Given the description of an element on the screen output the (x, y) to click on. 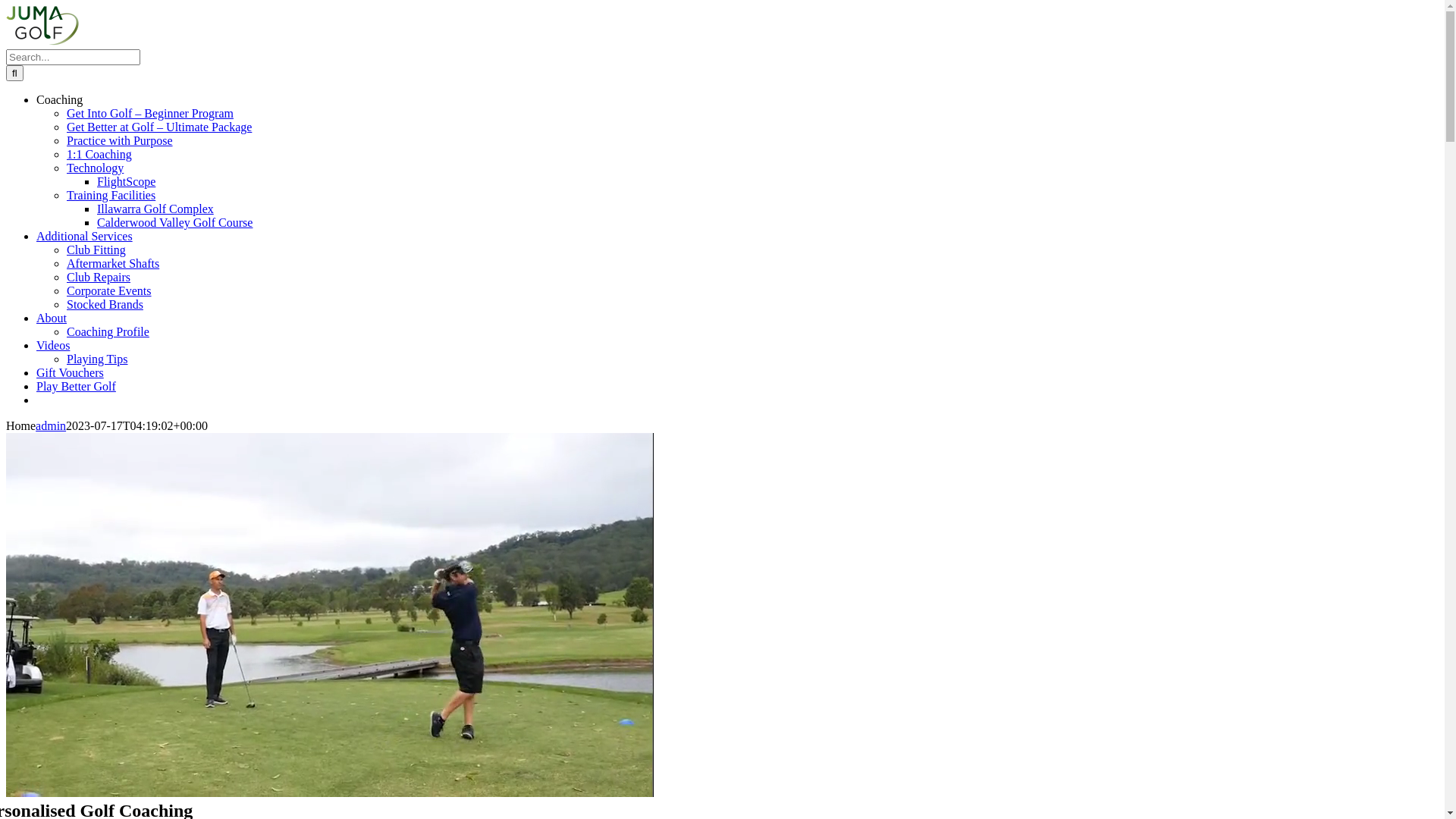
Additional Services Element type: text (84, 235)
Skip to content Element type: text (5, 5)
Illawarra Golf Complex Element type: text (155, 208)
Training Facilities Element type: text (110, 194)
Gift Vouchers Element type: text (69, 372)
Aftermarket Shafts Element type: text (112, 263)
Playing Tips Element type: text (96, 358)
Club Repairs Element type: text (98, 276)
FlightScope Element type: text (126, 181)
Videos Element type: text (52, 344)
Coaching Profile Element type: text (107, 331)
1:1 Coaching Element type: text (98, 153)
About Element type: text (51, 317)
Calderwood Valley Golf Course Element type: text (174, 222)
Practice with Purpose Element type: text (119, 140)
Play Better Golf Element type: text (76, 385)
Club Fitting Element type: text (95, 249)
admin Element type: text (50, 425)
Corporate Events Element type: text (108, 290)
Stocked Brands Element type: text (104, 304)
Coaching Element type: text (59, 99)
Technology Element type: text (94, 167)
